Given the description of an element on the screen output the (x, y) to click on. 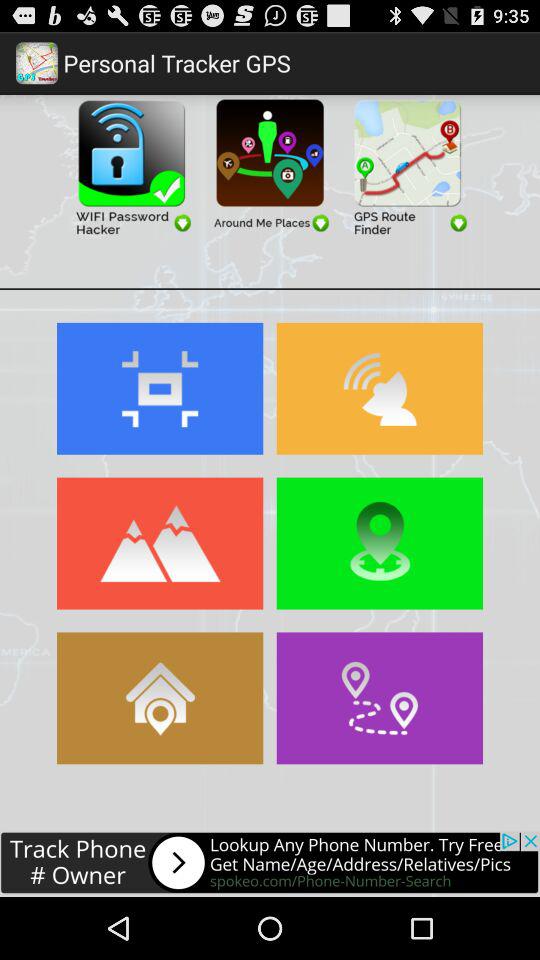
button image (160, 543)
